Given the description of an element on the screen output the (x, y) to click on. 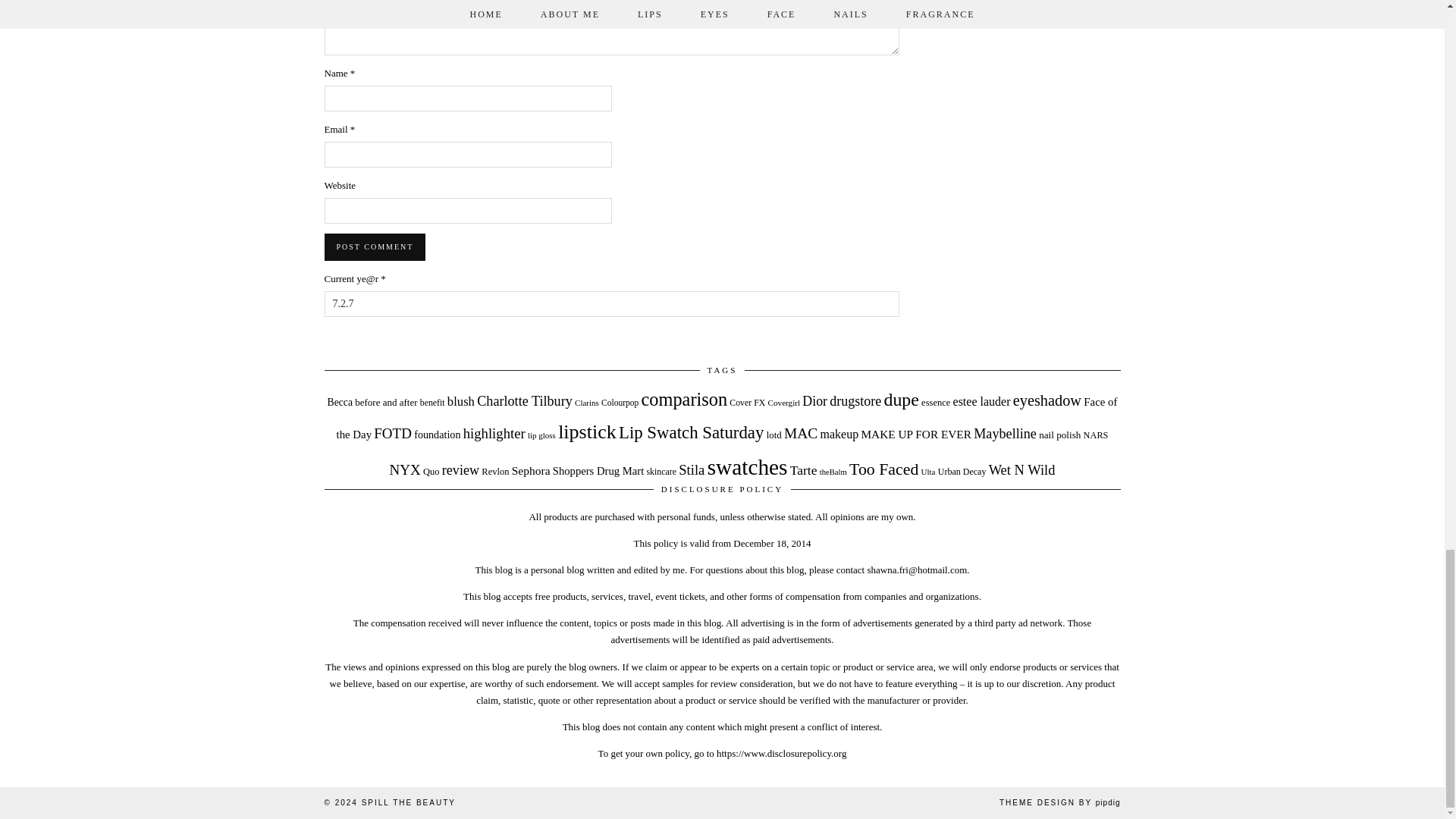
Post Comment (375, 247)
Post Comment (375, 247)
7.2.7 (611, 303)
